Given the description of an element on the screen output the (x, y) to click on. 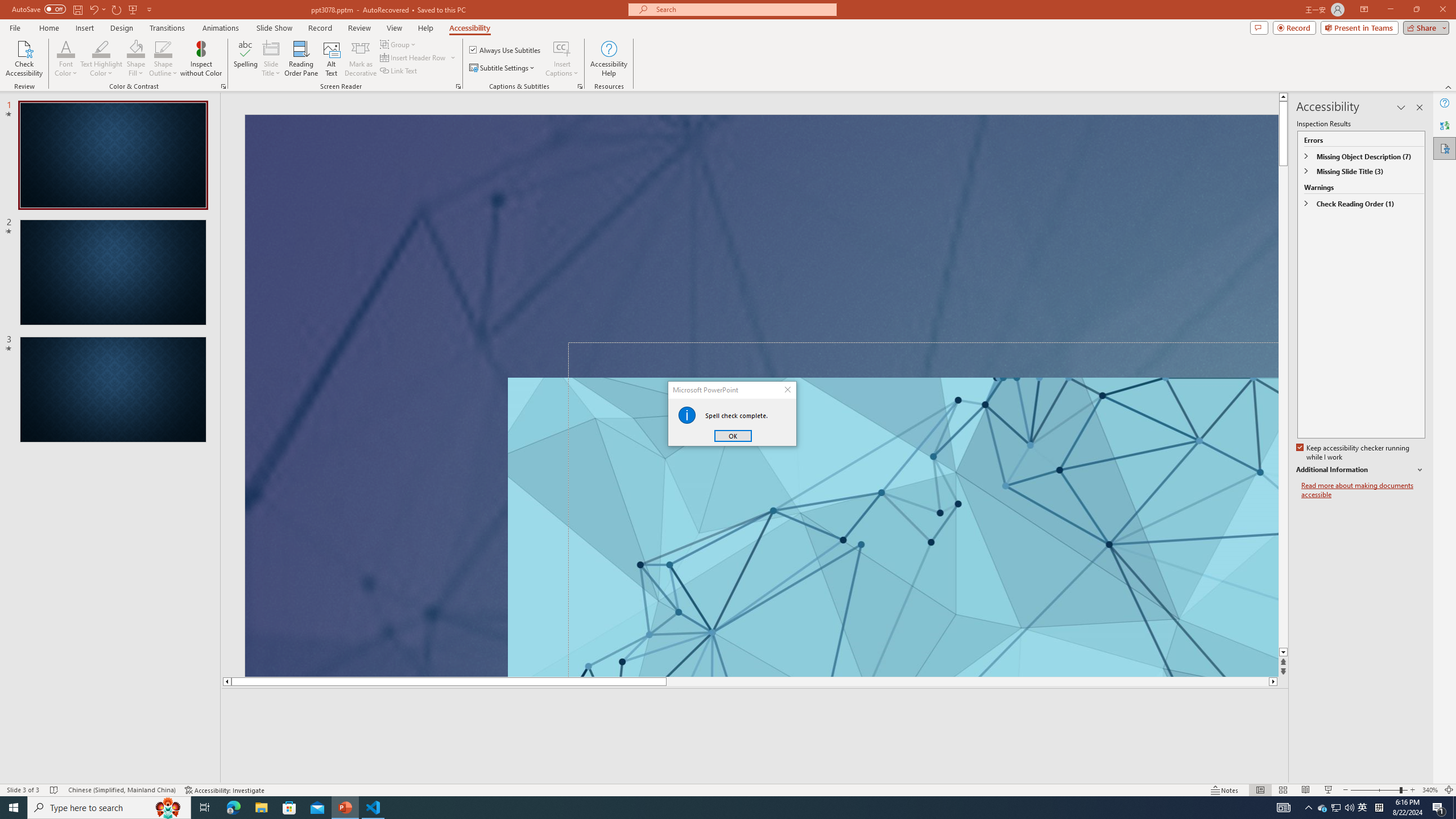
File Explorer (261, 807)
Alt Text (331, 58)
Keep accessibility checker running while I work (1353, 452)
Spelling... (245, 58)
Action Center, 1 new notification (1322, 807)
Font Color (1439, 807)
